Given the description of an element on the screen output the (x, y) to click on. 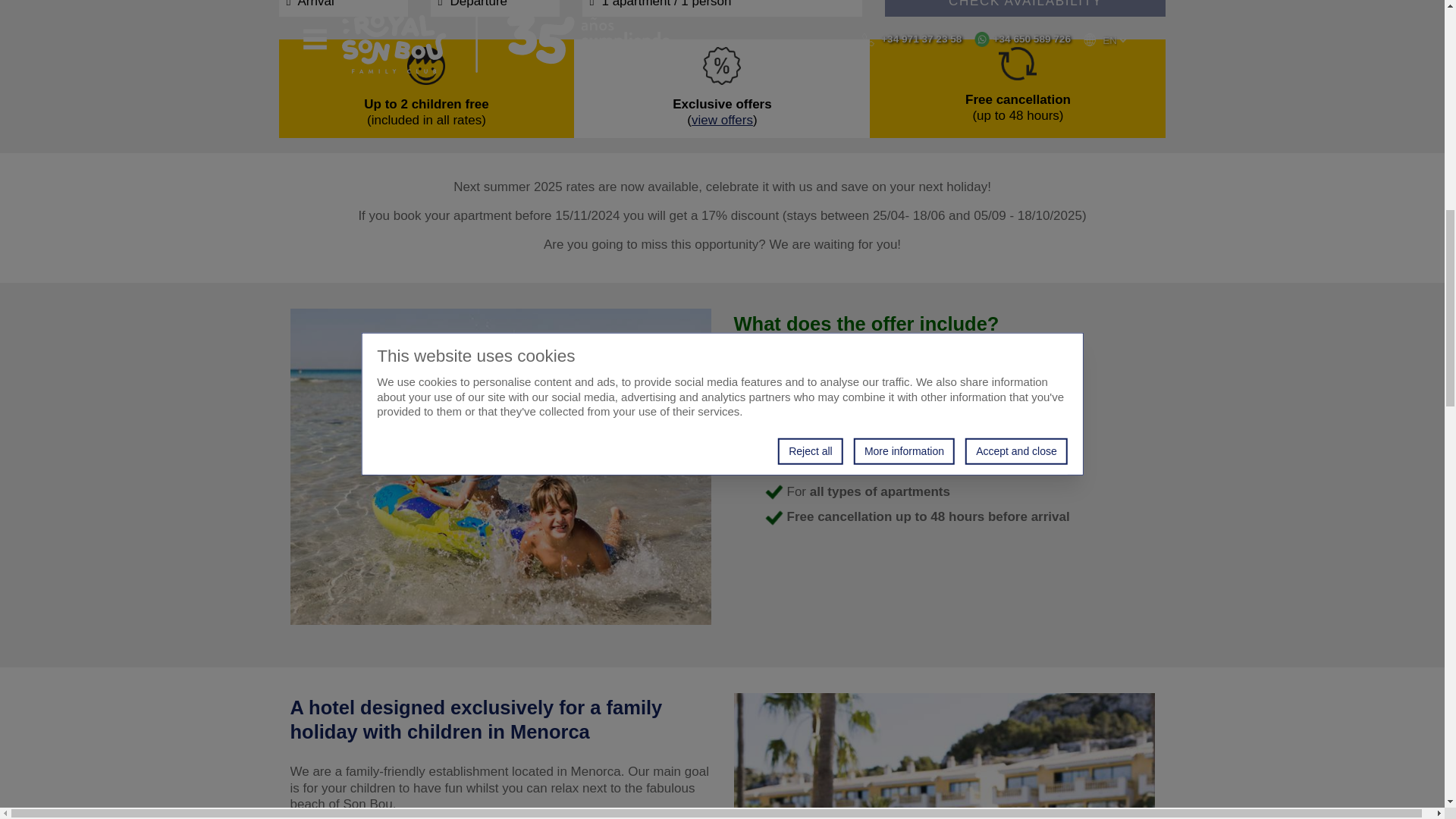
Select dates (494, 8)
Occupancy (722, 8)
icon -cancelacion -gratis (1017, 63)
Hooy   Royal   Piscina (943, 755)
royal -son -bou -2019-052 (499, 466)
icon -ofertas -exclusivas (722, 65)
Select dates (343, 8)
